Given the description of an element on the screen output the (x, y) to click on. 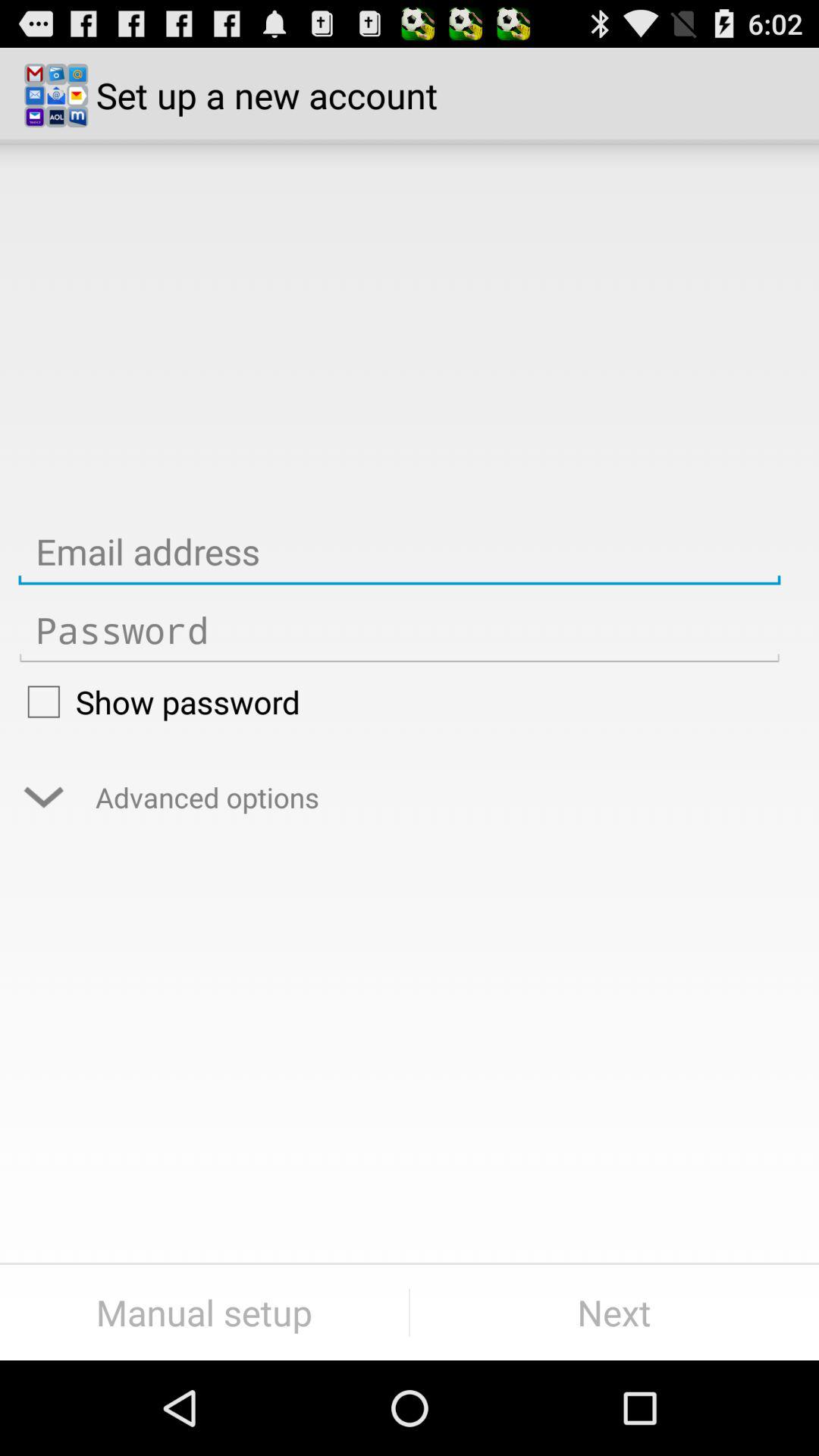
tap the icon to the left of the next item (204, 1312)
